Given the description of an element on the screen output the (x, y) to click on. 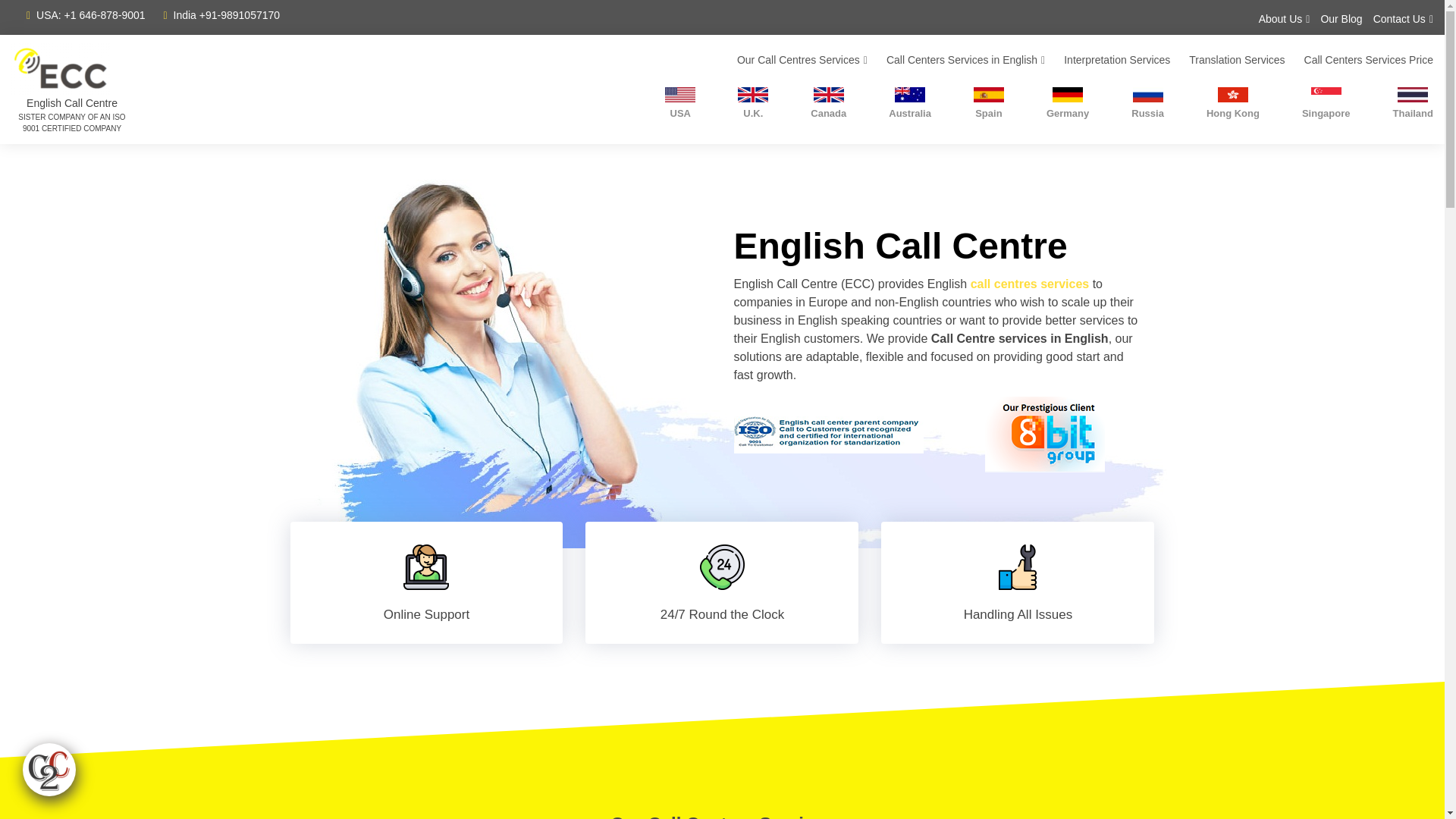
Contact Us (1397, 17)
Interpretation Services (1107, 60)
About Us (1278, 17)
Our Blog (1334, 17)
call centres services (1030, 283)
Translation Services (1227, 60)
Call Centers Services Price (1358, 60)
Call Centers Services in English (956, 60)
Our Call Centres Services (792, 60)
